Given the description of an element on the screen output the (x, y) to click on. 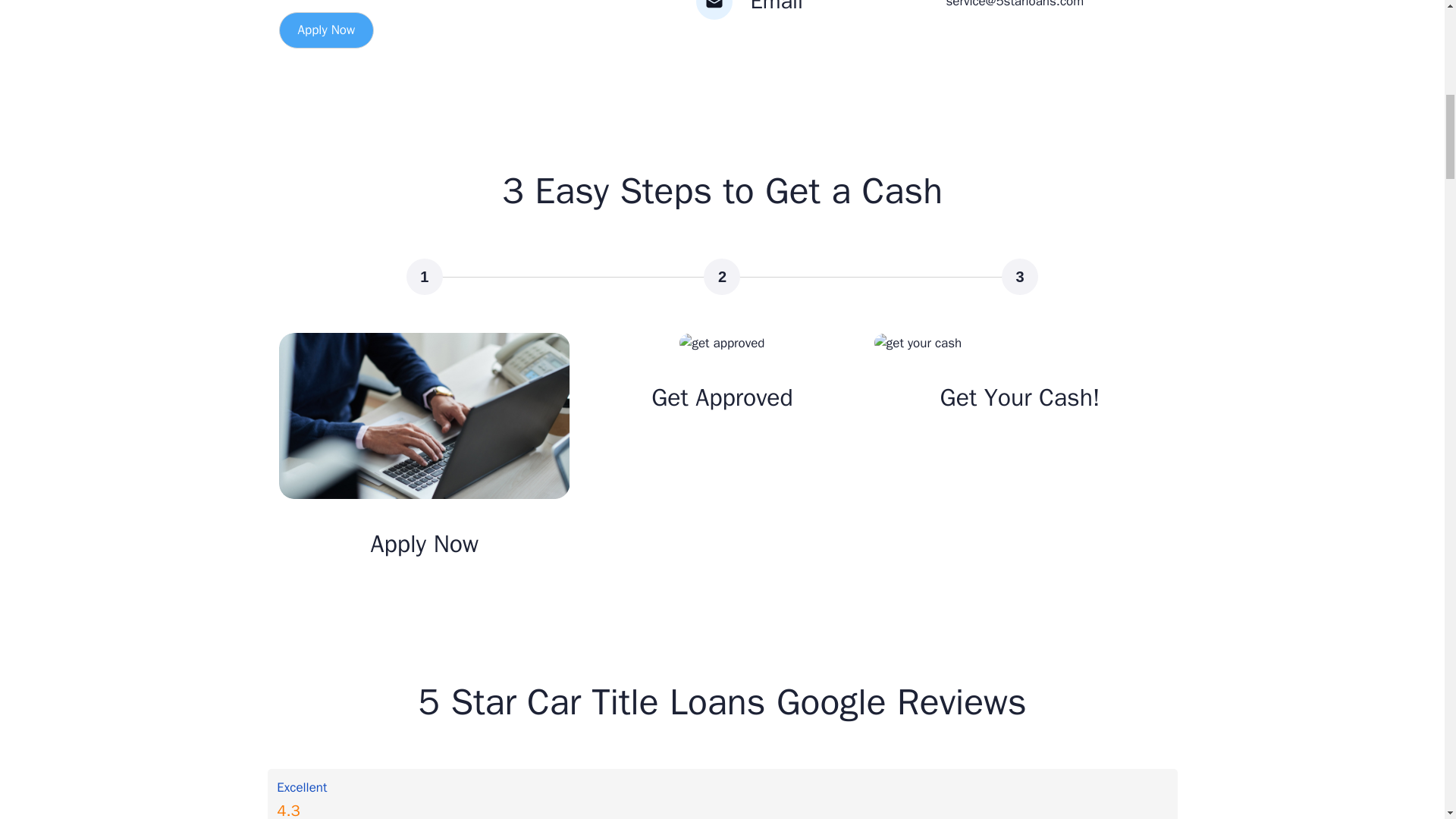
Image (424, 415)
Image2 (721, 342)
Image3 (918, 342)
